Given the description of an element on the screen output the (x, y) to click on. 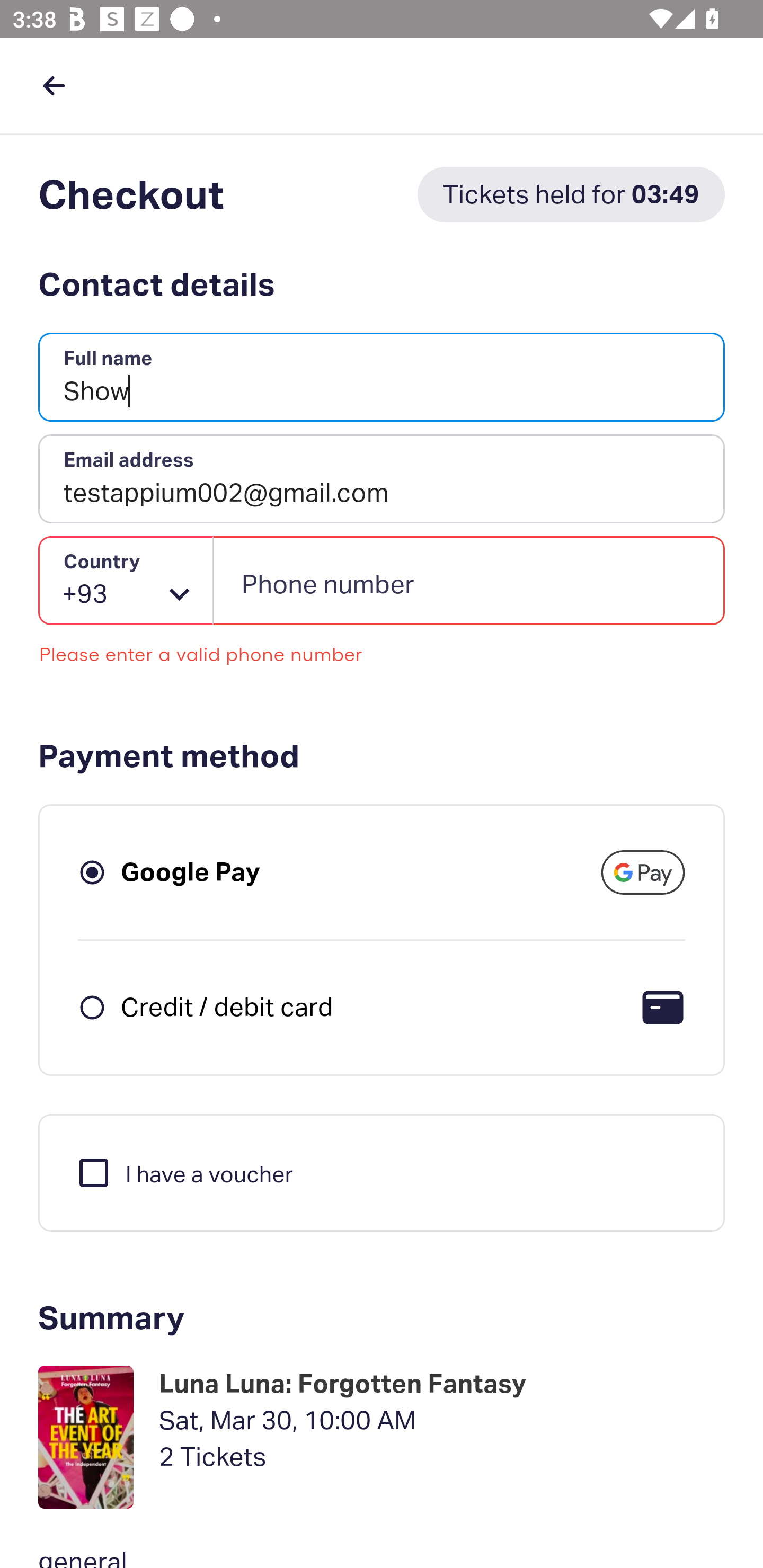
back button (53, 85)
Show (381, 377)
testappium002@gmail.com (381, 478)
  +93 (126, 580)
Google Pay (190, 871)
Credit / debit card (227, 1006)
I have a voucher (183, 1171)
